Given the description of an element on the screen output the (x, y) to click on. 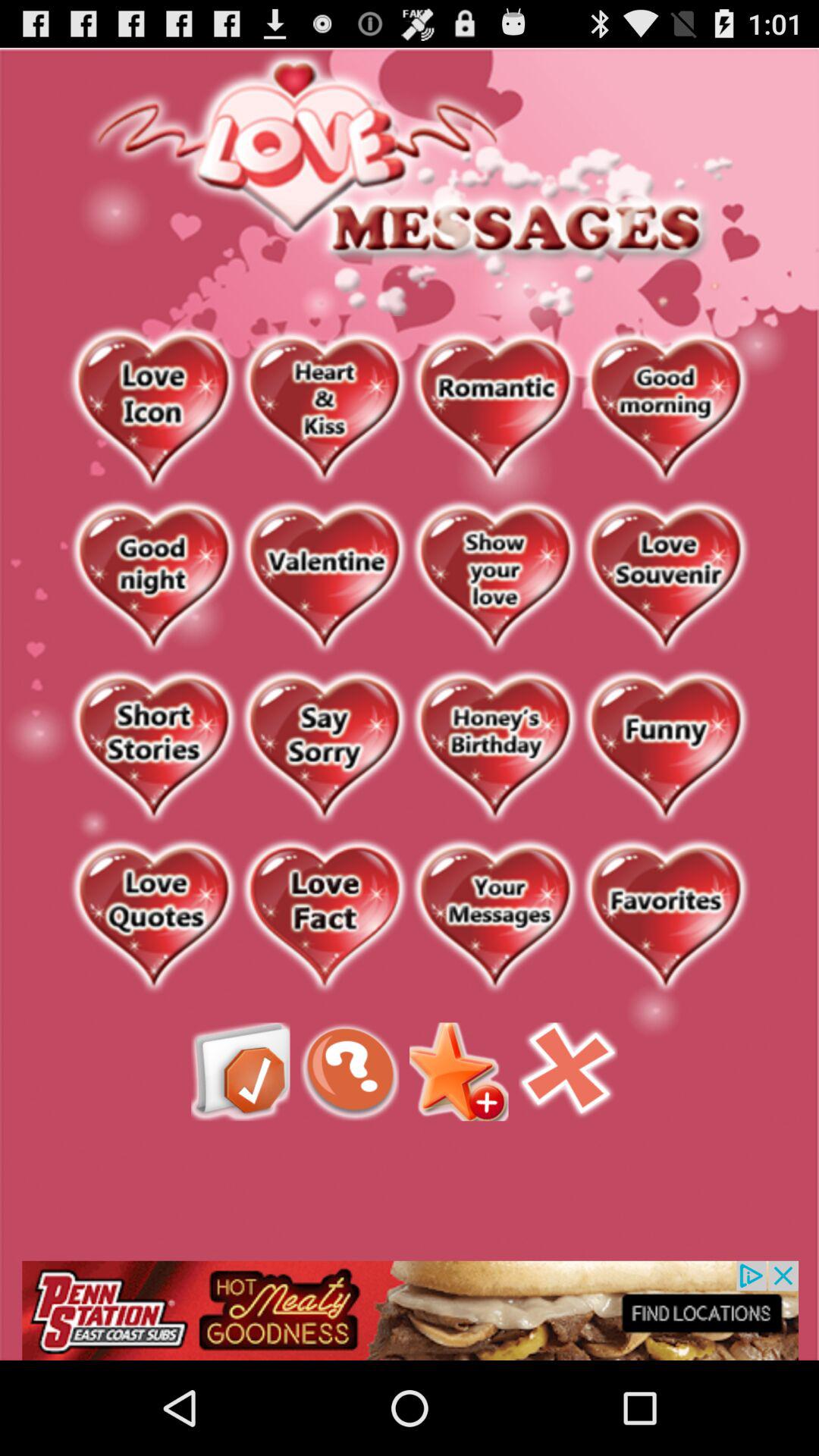
click for valentine love messages (323, 578)
